Given the description of an element on the screen output the (x, y) to click on. 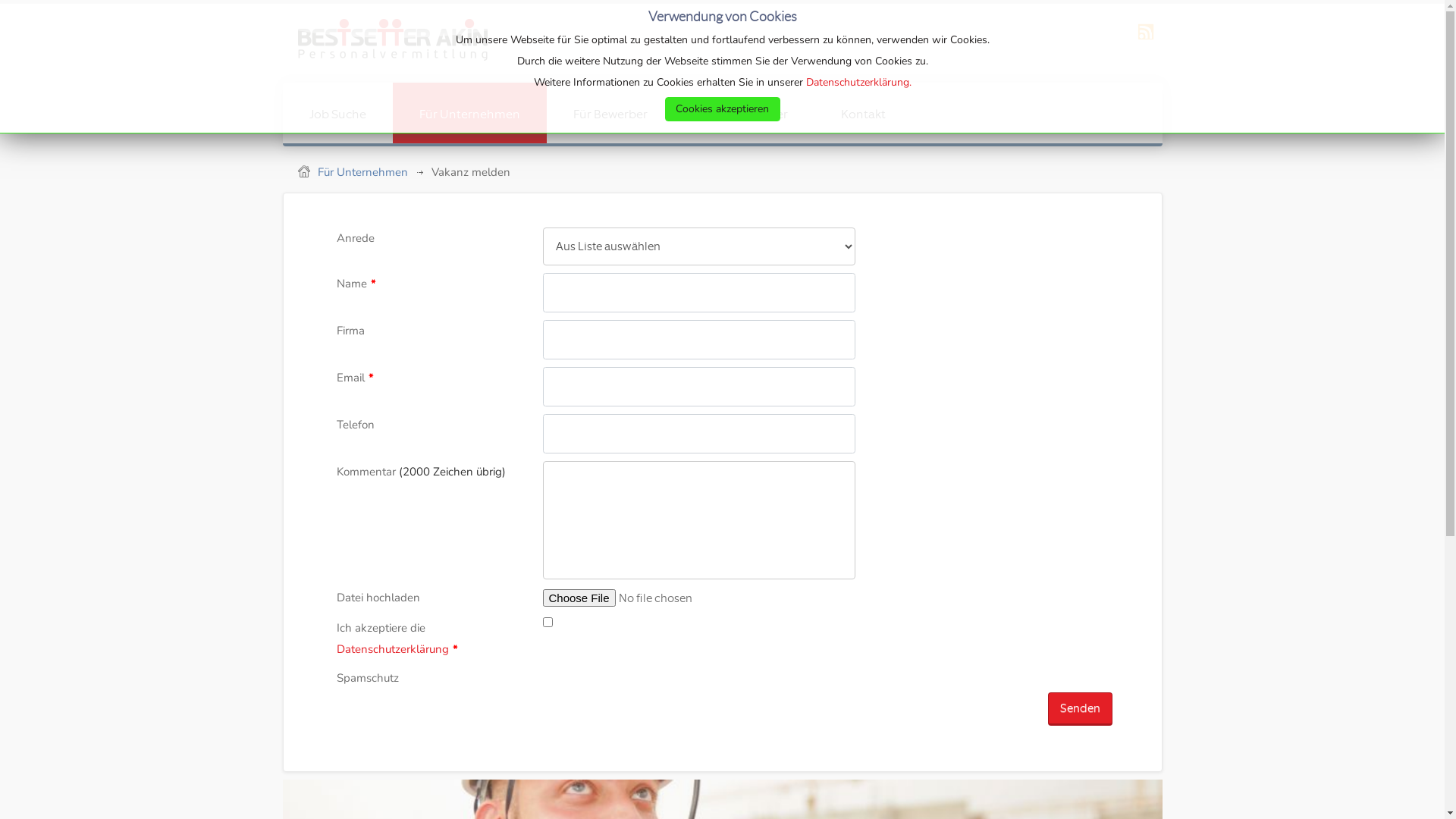
      Element type: text (384, 43)
Senden Element type: text (1080, 708)
Kontakt Element type: text (863, 112)
Job Suche Element type: text (337, 112)
RSS Feed Element type: hover (1145, 40)
